Given the description of an element on the screen output the (x, y) to click on. 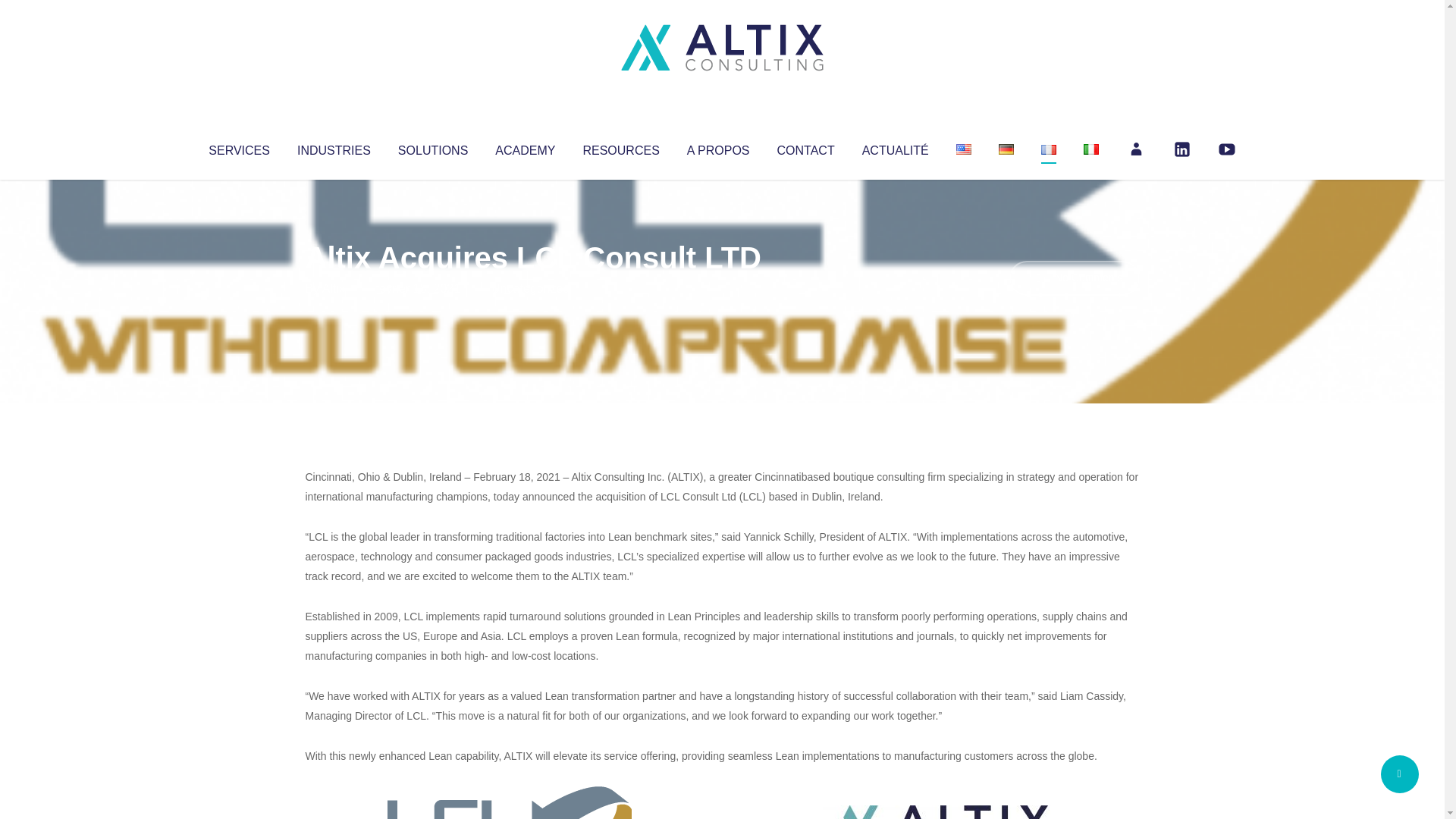
Altix (333, 287)
INDUSTRIES (334, 146)
A PROPOS (718, 146)
RESOURCES (620, 146)
Uncategorized (530, 287)
SOLUTIONS (432, 146)
SERVICES (238, 146)
No Comments (1073, 278)
Articles par Altix (333, 287)
ACADEMY (524, 146)
